Given the description of an element on the screen output the (x, y) to click on. 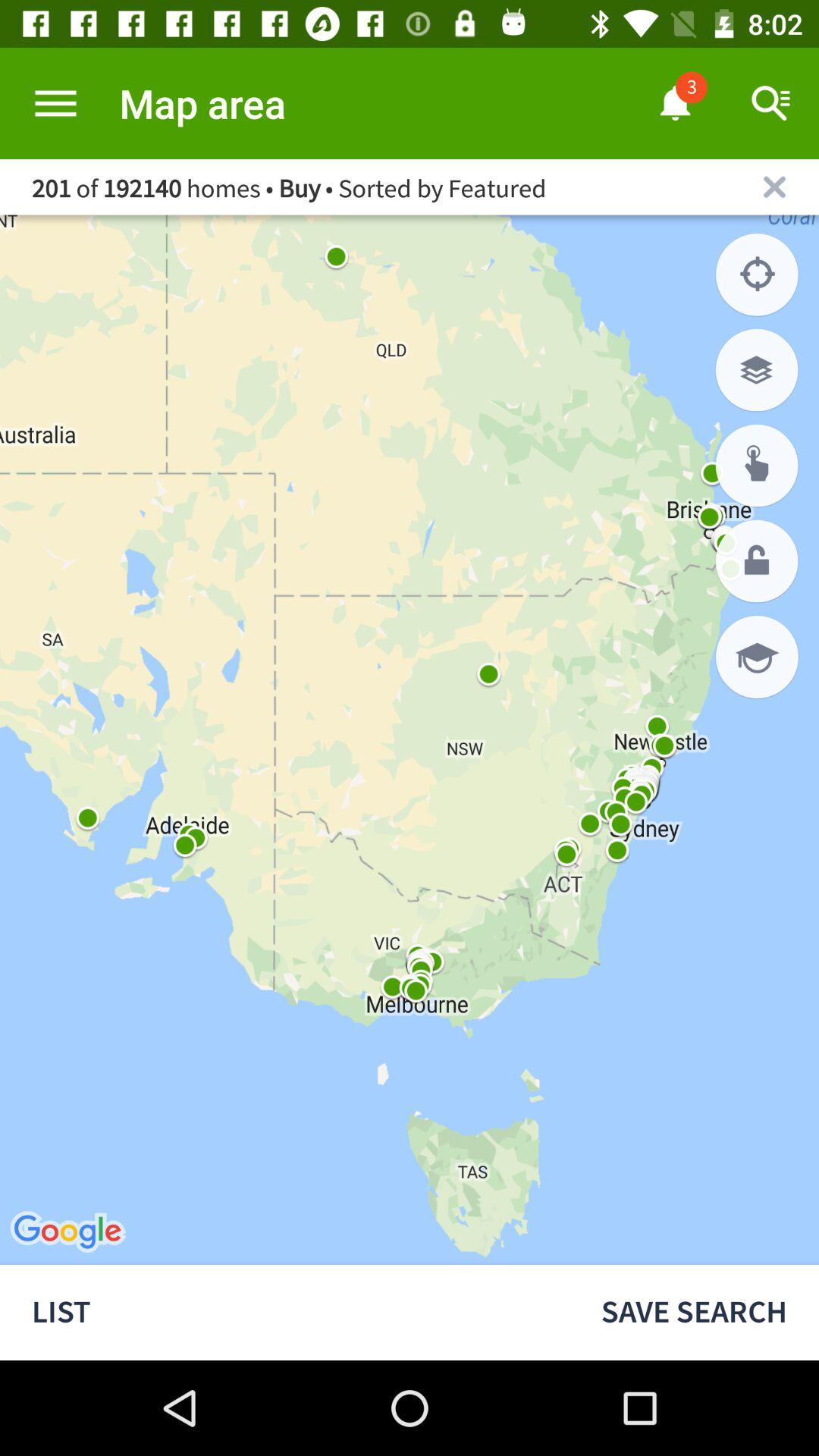
tap the app to the left of map area (55, 103)
